Given the description of an element on the screen output the (x, y) to click on. 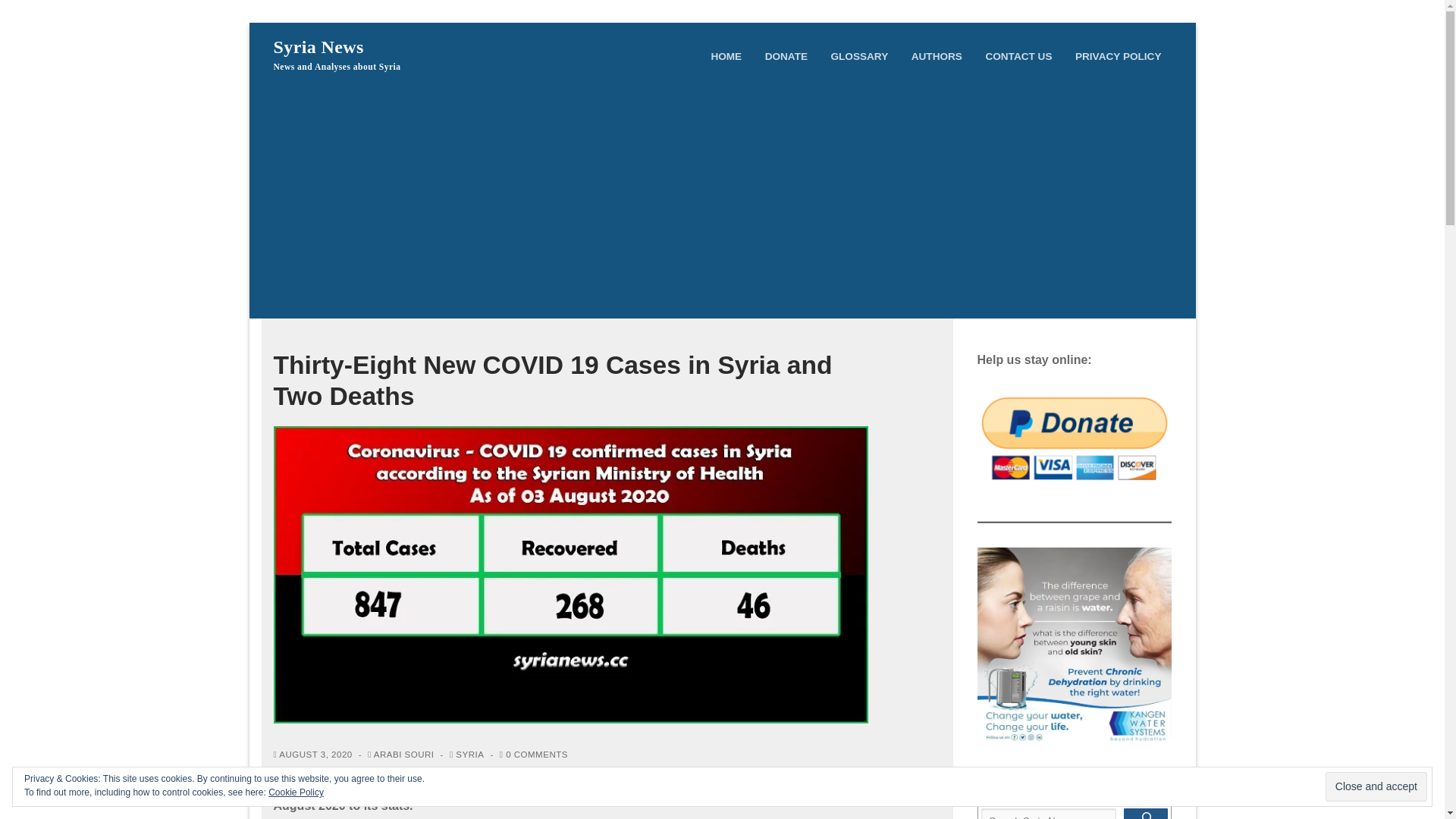
AUGUST 3, 2020 (312, 754)
ARABI SOURI (400, 754)
AUTHORS (936, 56)
HOME (725, 56)
0 COMMENTS (533, 754)
PRIVACY POLICY (1118, 56)
GLOSSARY (859, 56)
DONATE (785, 56)
Close and accept (1375, 786)
Syria News (317, 47)
CONTACT US (1018, 56)
SYRIA (466, 754)
